Given the description of an element on the screen output the (x, y) to click on. 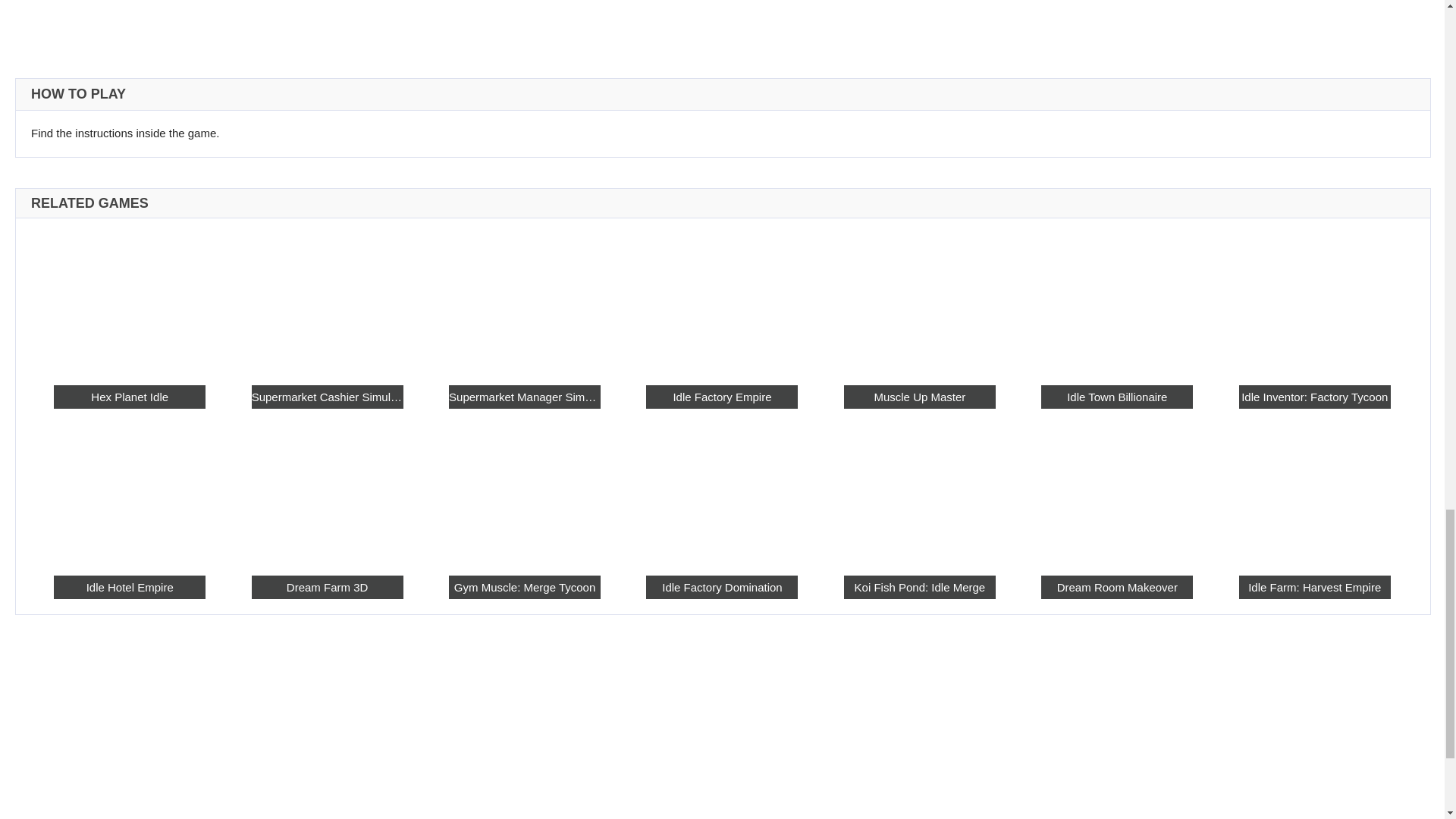
Hex Planet Idle (129, 300)
Idle Factory Empire (721, 396)
Idle Town Billionaire (1116, 300)
Supermarket Manager Simulator (523, 300)
Idle Factory Empire (721, 300)
Supermarket Manager Simulator (523, 396)
Muscle Up Master (919, 300)
Supermarket Cashier Simulator (327, 300)
Hex Planet Idle (129, 396)
Muscle Up Master (919, 396)
